Given the description of an element on the screen output the (x, y) to click on. 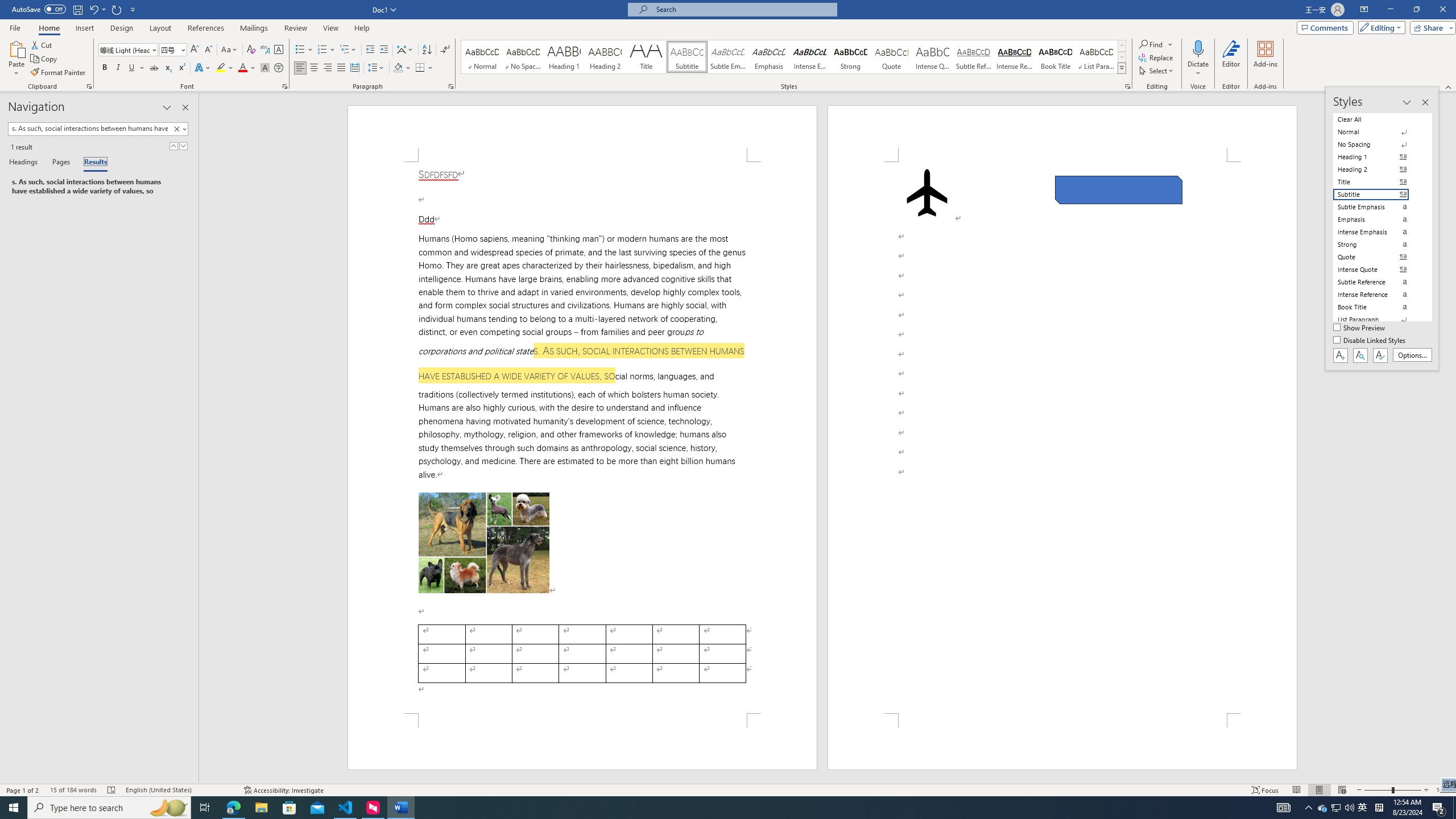
Page 1 content (581, 437)
Result 1 of 1 (94, 186)
Emphasis (768, 56)
List Paragraph (1377, 319)
Subtle Emphasis (727, 56)
